Given the description of an element on the screen output the (x, y) to click on. 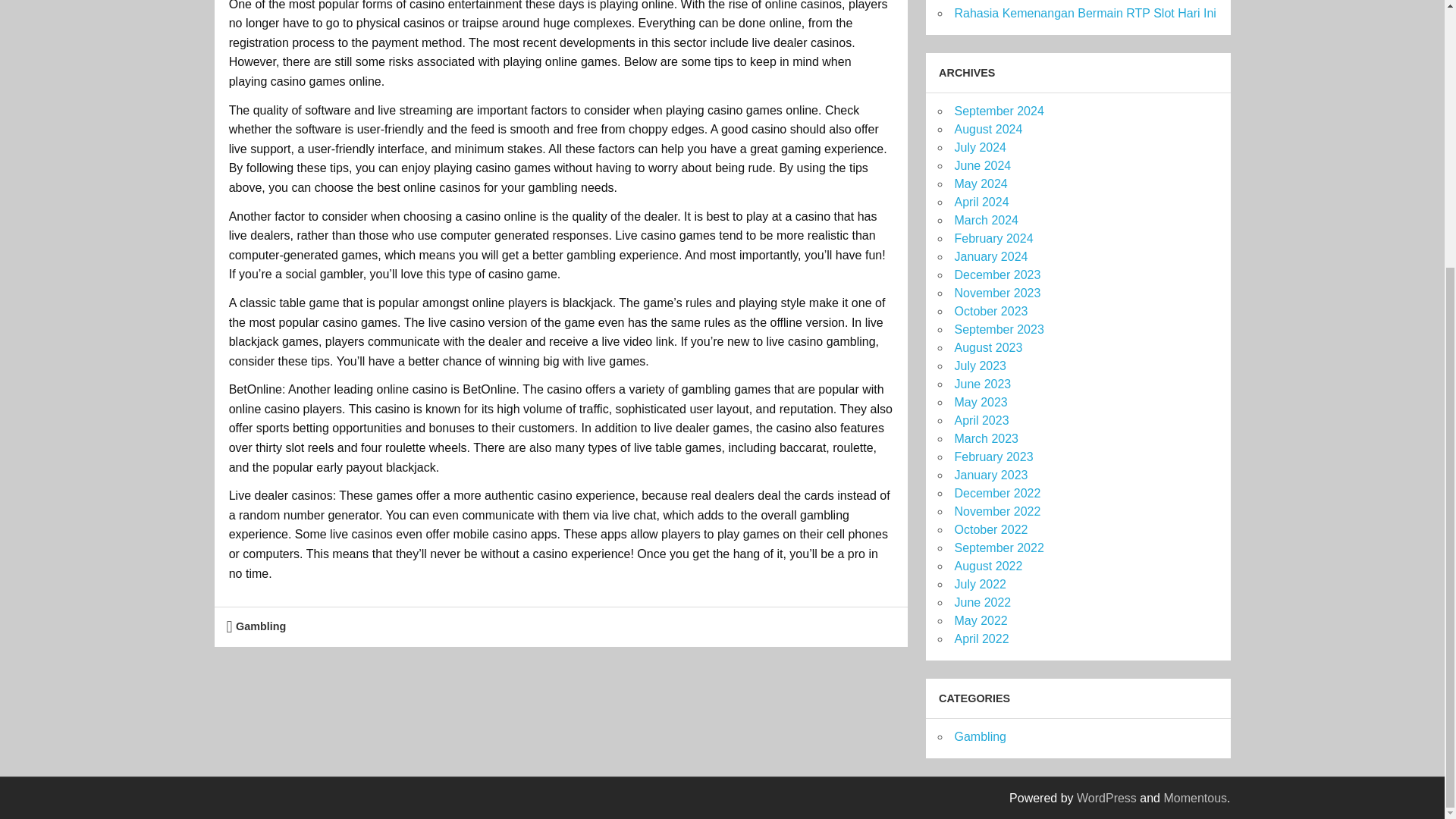
September 2022 (998, 547)
April 2024 (981, 201)
August 2022 (987, 565)
February 2024 (992, 237)
Gambling (260, 625)
December 2023 (997, 274)
May 2022 (980, 620)
December 2022 (997, 492)
January 2024 (990, 256)
